Given the description of an element on the screen output the (x, y) to click on. 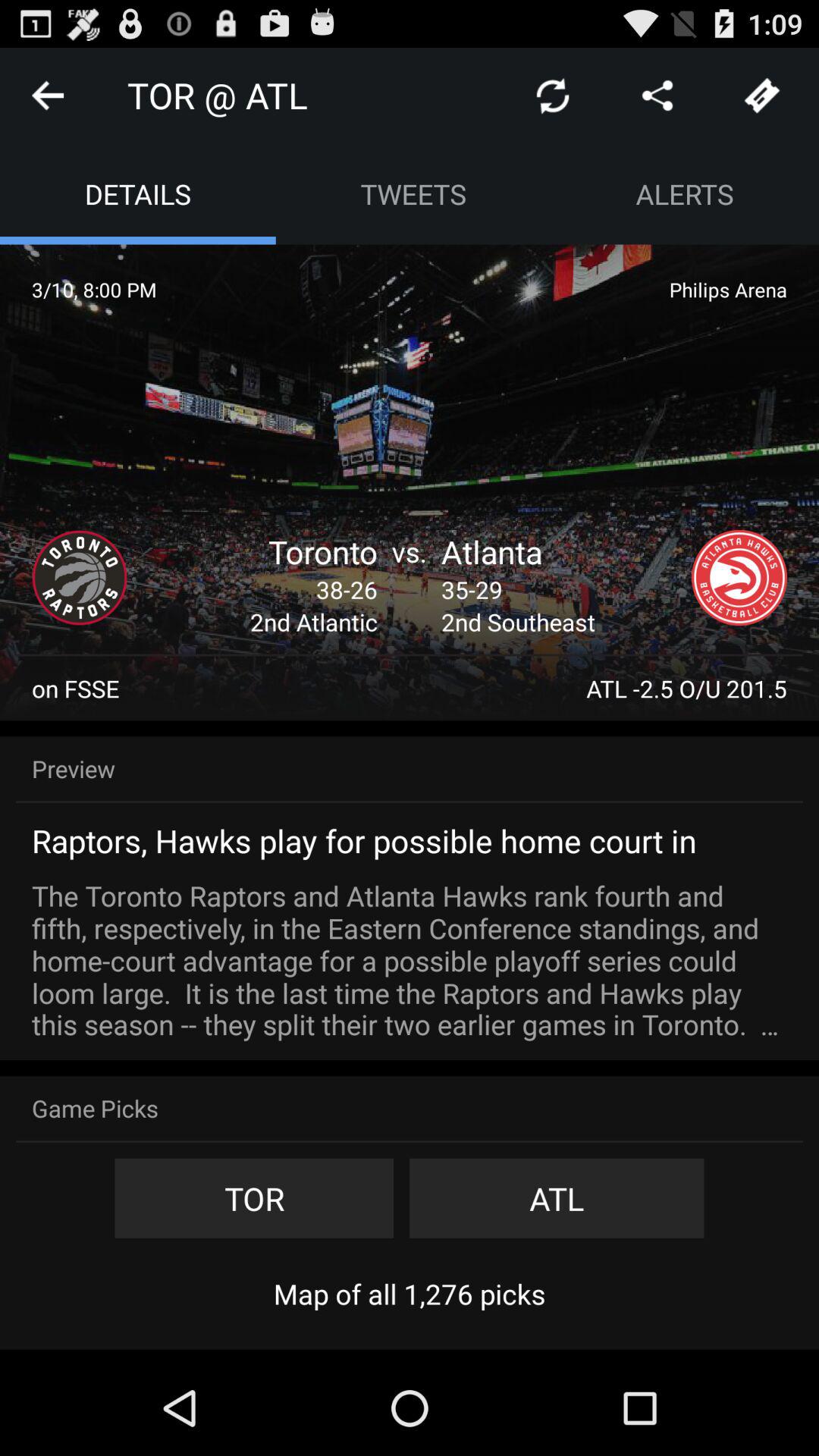
launch alerts app (685, 193)
